Given the description of an element on the screen output the (x, y) to click on. 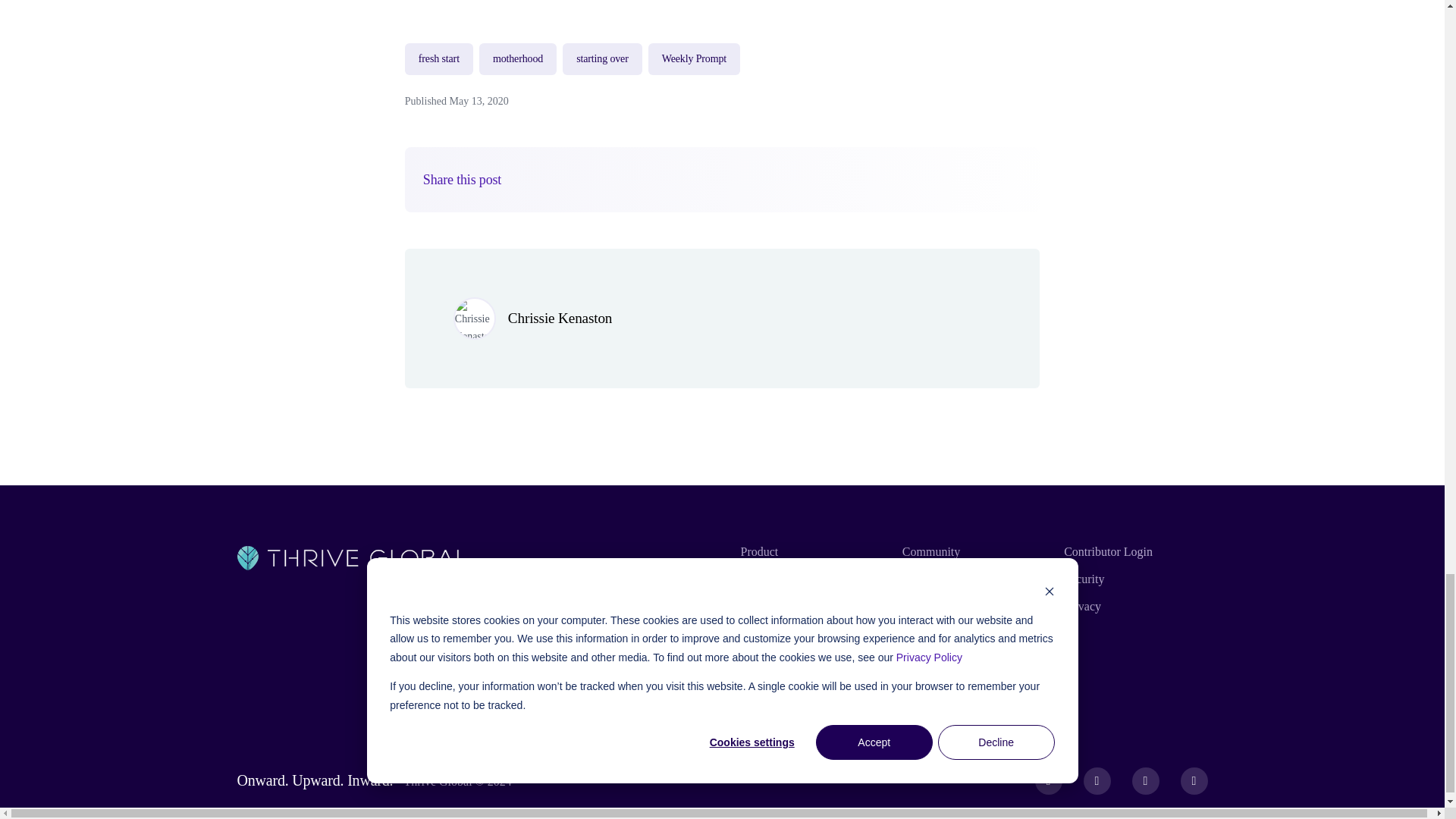
Chrissie Kenaston (559, 317)
